Given the description of an element on the screen output the (x, y) to click on. 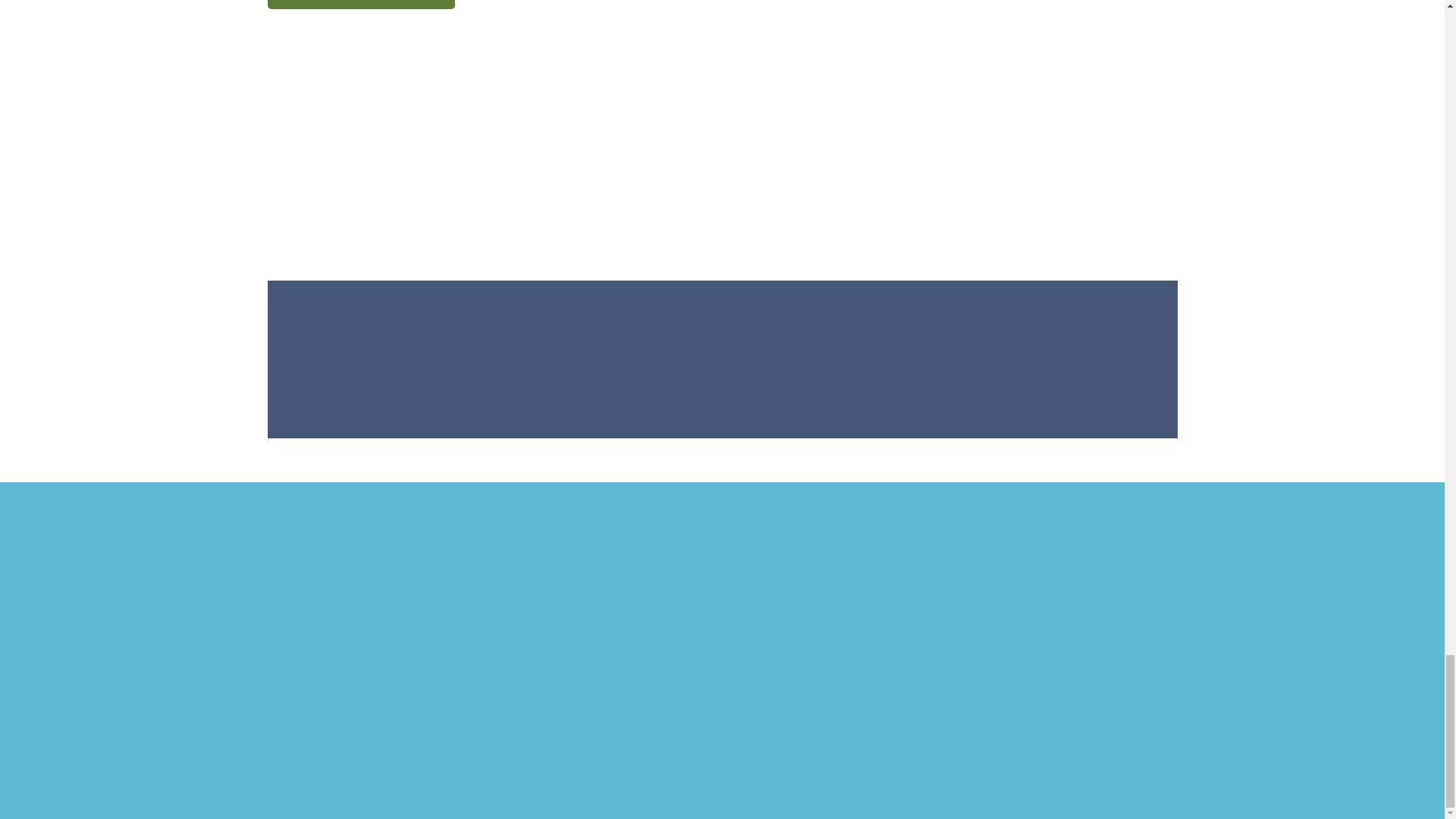
RUBBISH REMOVAL IN LONDON (360, 4)
